Given the description of an element on the screen output the (x, y) to click on. 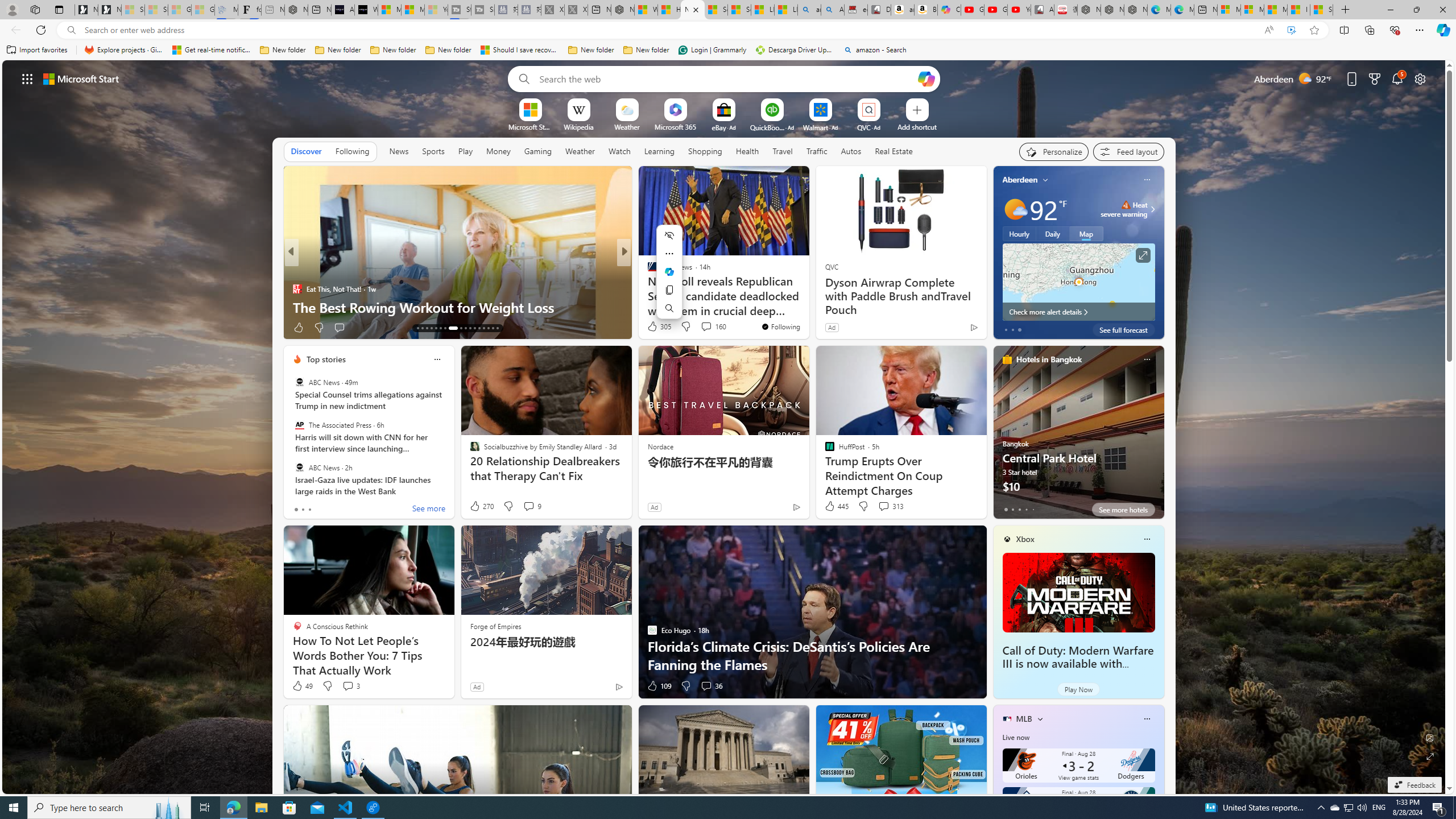
next (1158, 252)
Microsoft start (81, 78)
AutomationID: tab-25 (478, 328)
Map (1085, 233)
tab-4 (1032, 509)
Newsletter Sign Up (109, 9)
Mostly sunny (1014, 208)
YouTube Kids - An App Created for Kids to Explore Content (1019, 9)
Shopping (705, 151)
49 Like (301, 685)
View comments 313 Comment (890, 505)
Traffic (816, 151)
Huge shark washes ashore at New York City beach | Watch (668, 9)
Weather (580, 151)
